Given the description of an element on the screen output the (x, y) to click on. 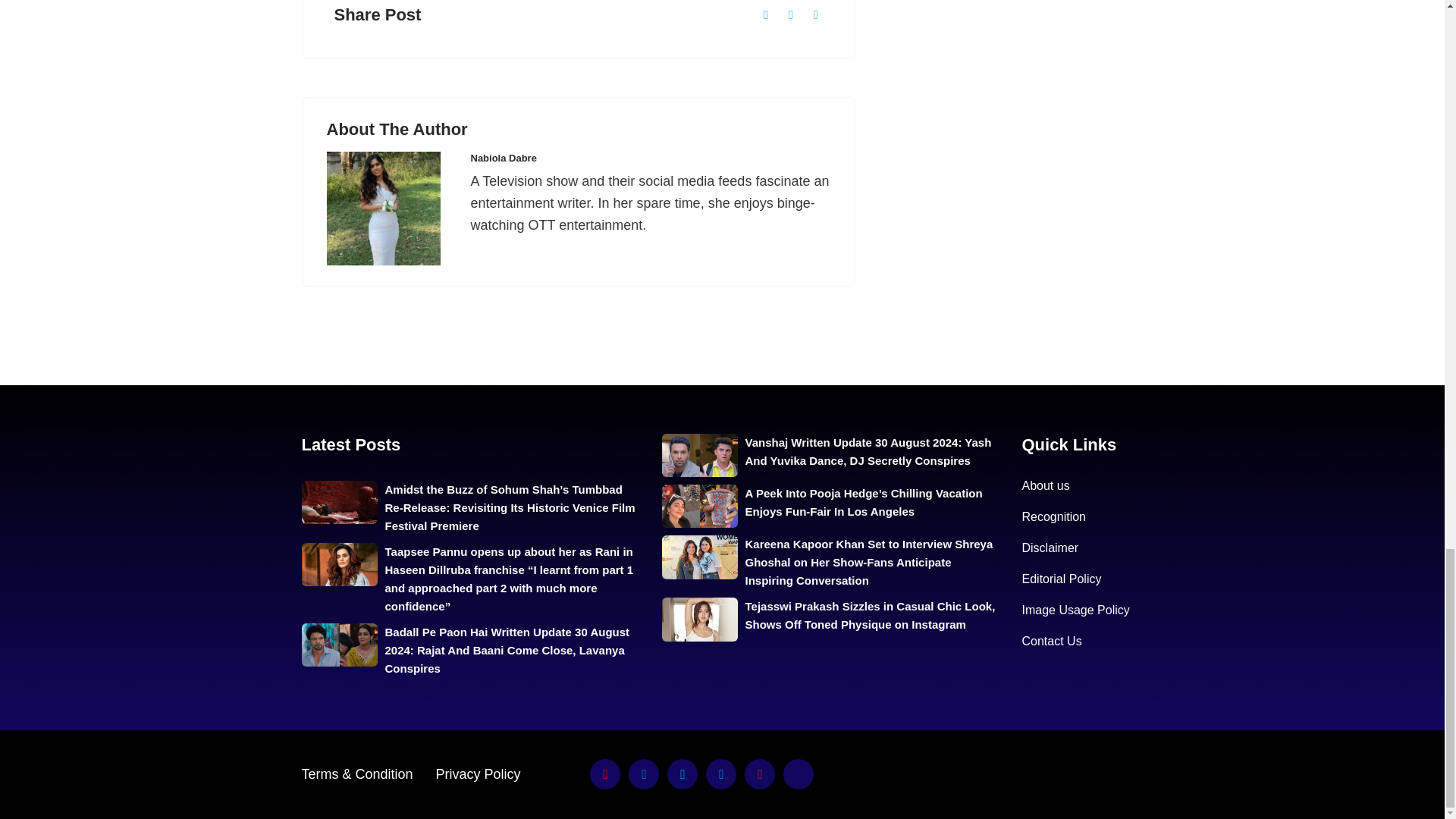
About us (1046, 485)
